Given the description of an element on the screen output the (x, y) to click on. 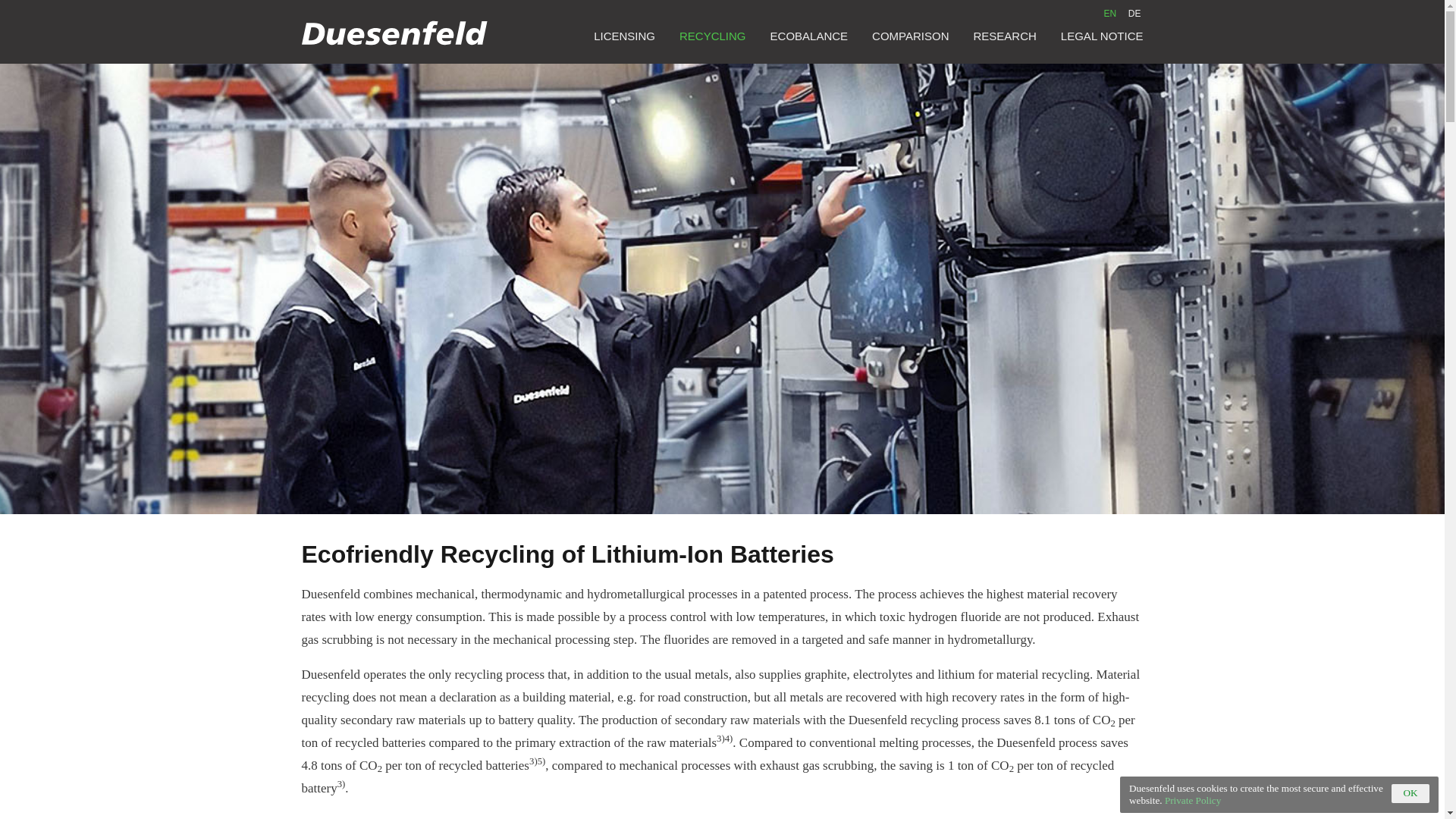
RECYCLING (712, 35)
ECOBALANCE (809, 35)
LEGAL NOTICE (1101, 35)
LICENSING (624, 35)
COMPARISON (910, 35)
RESEARCH (1005, 35)
DE (1133, 13)
